Given the description of an element on the screen output the (x, y) to click on. 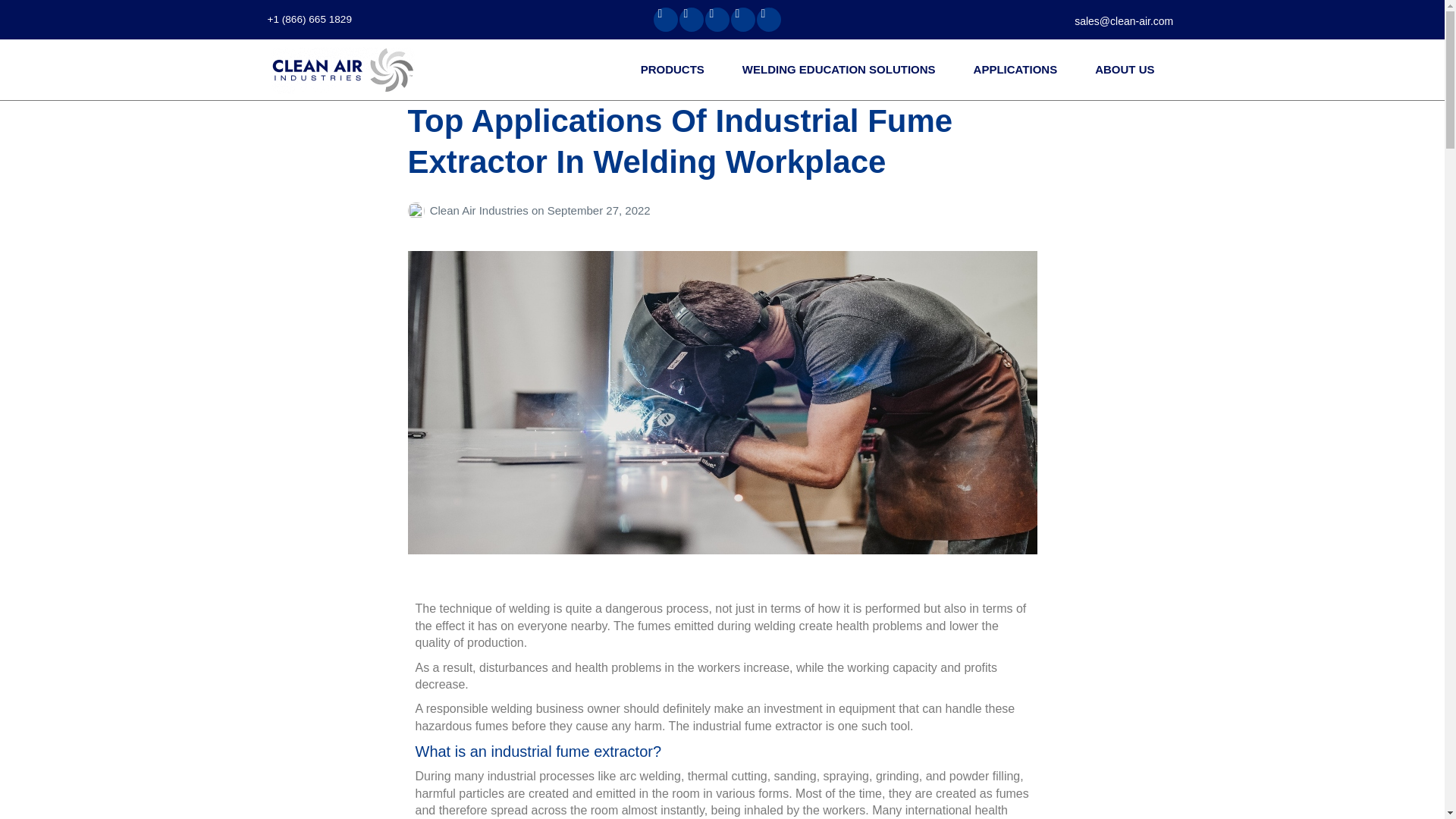
PRODUCTS (676, 68)
Posts by Clean Air Industries (418, 210)
WELDING EDUCATION SOLUTIONS (842, 68)
APPLICATIONS (1019, 68)
Clean Air Industries (342, 70)
